Given the description of an element on the screen output the (x, y) to click on. 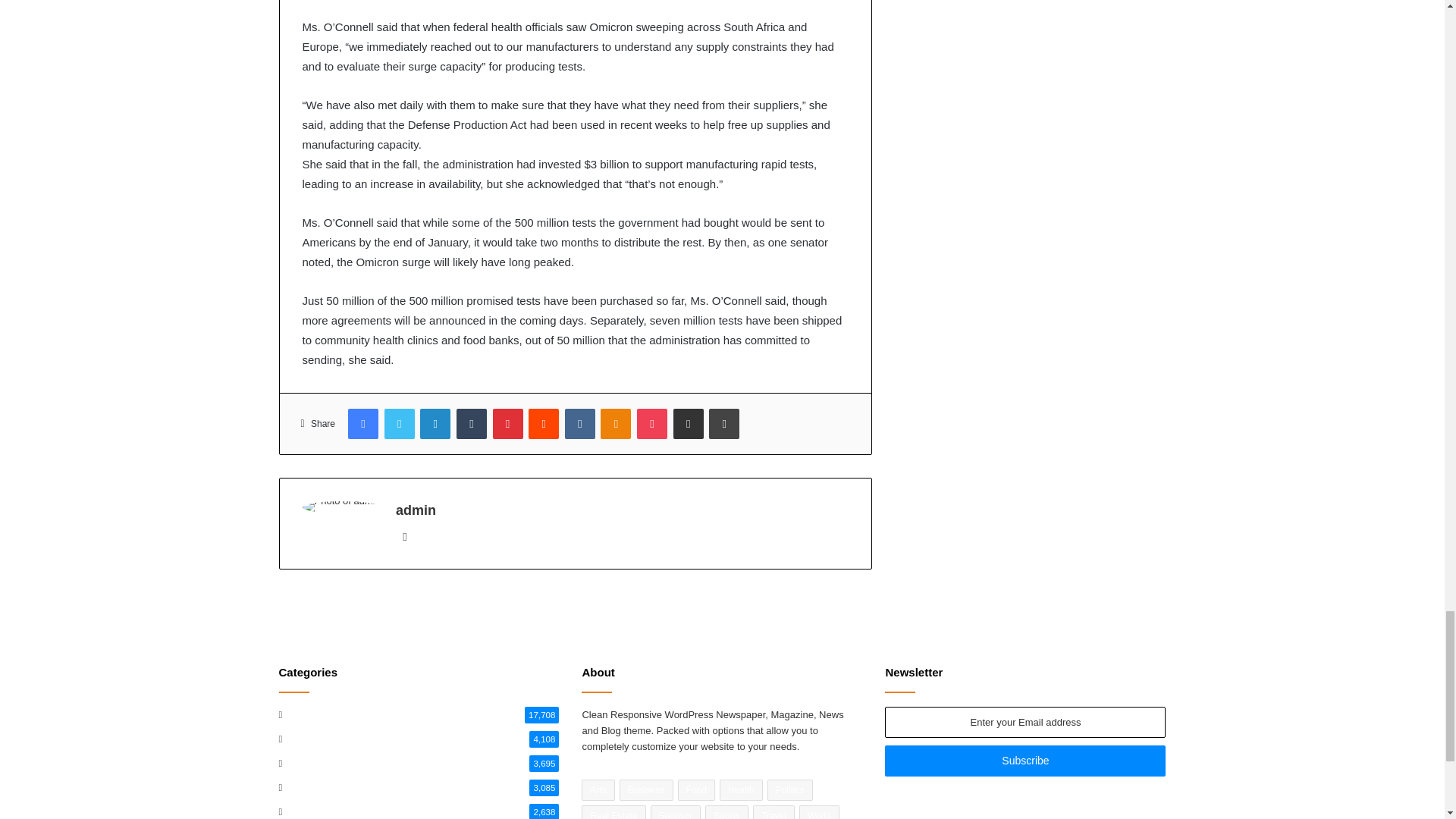
Subscribe (1025, 760)
